Given the description of an element on the screen output the (x, y) to click on. 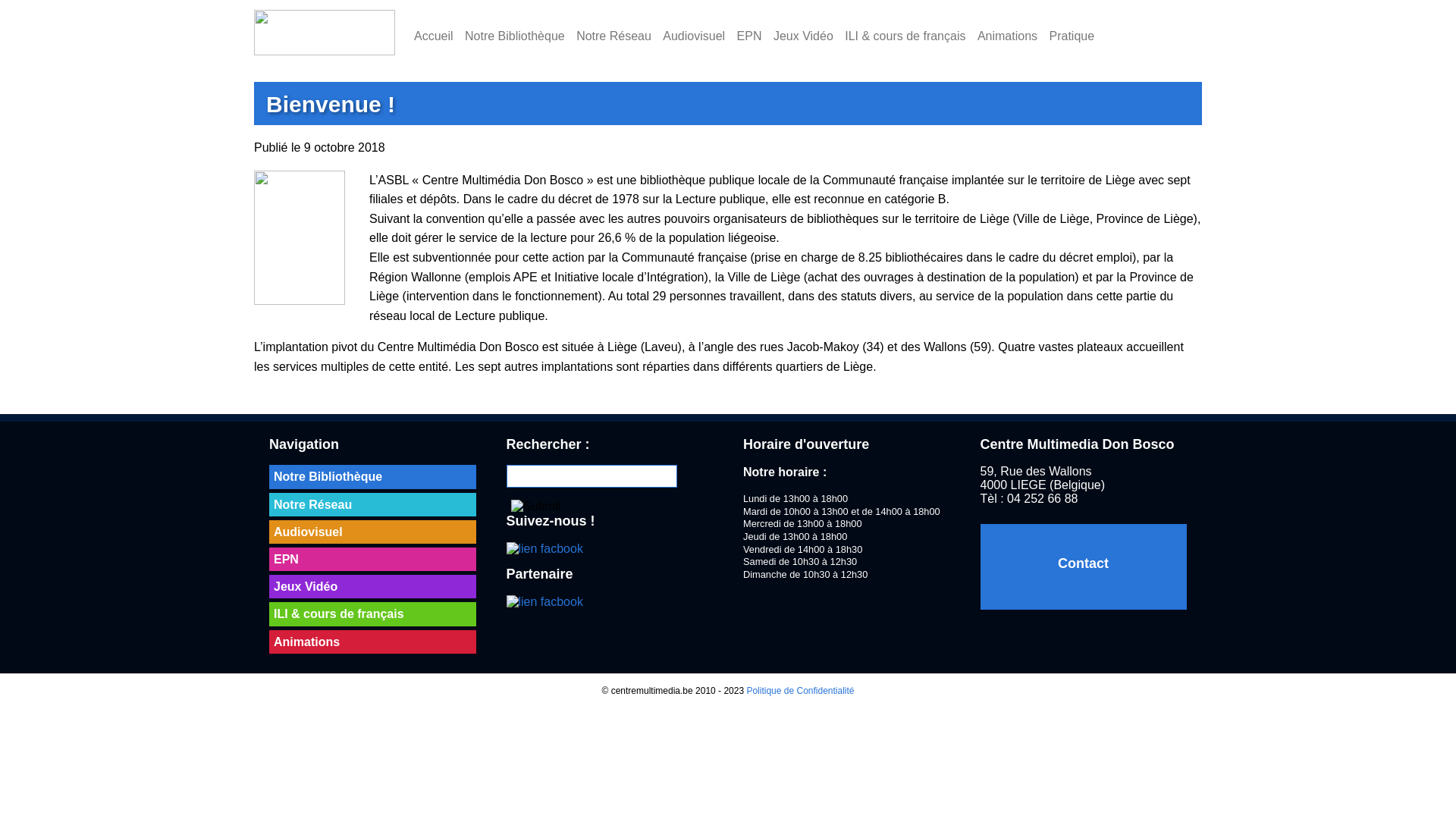
Accueil Element type: text (433, 40)
Contact Element type: text (1082, 566)
Animations Element type: text (1006, 40)
Pratique Element type: text (1071, 40)
Audiovisuel Element type: text (693, 40)
Audiovisuel Element type: text (372, 531)
Rechercher Element type: hover (536, 506)
EPN Element type: text (372, 559)
EPN Element type: text (749, 40)
Animations Element type: text (372, 641)
